Given the description of an element on the screen output the (x, y) to click on. 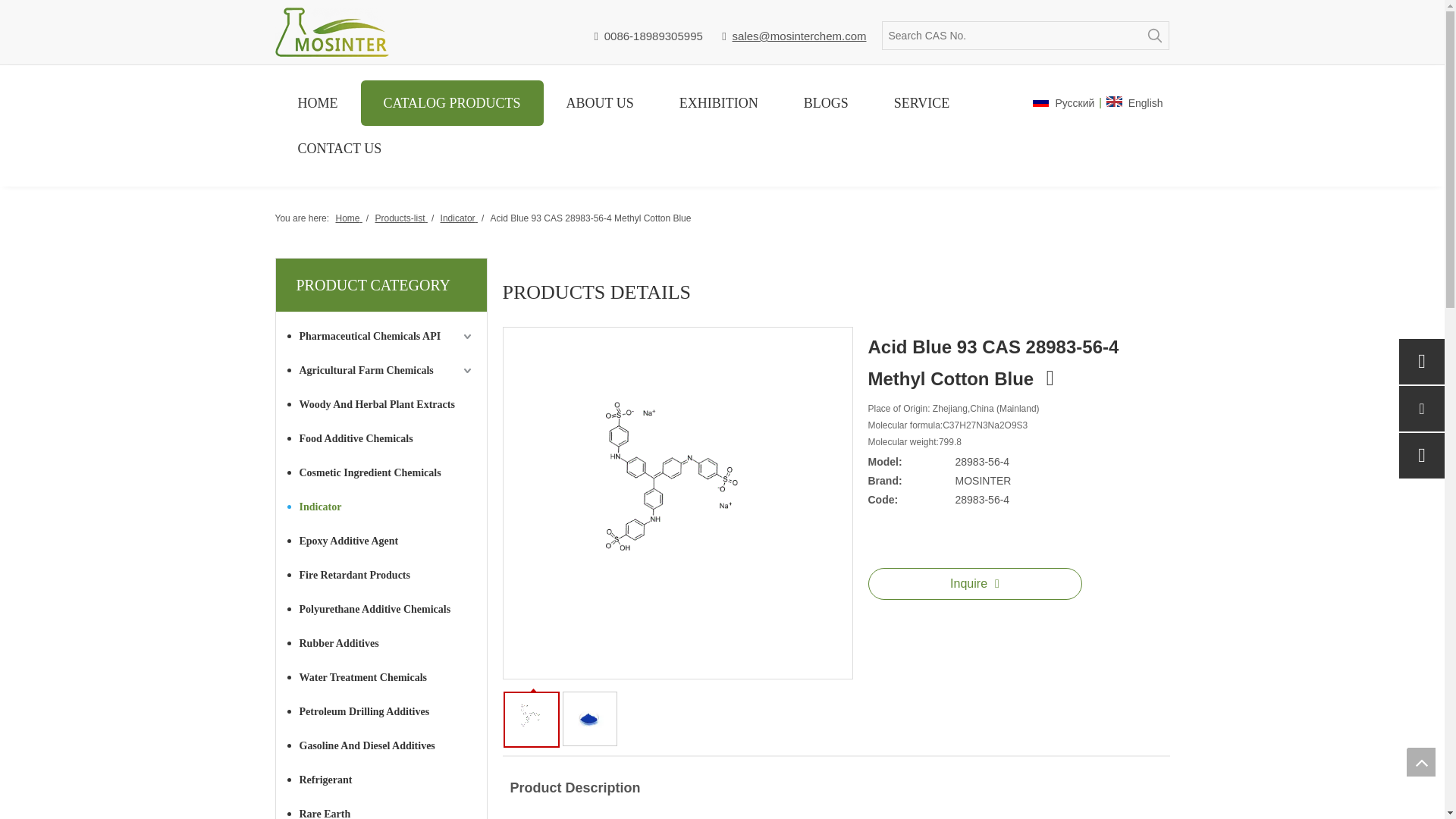
HOME (317, 103)
CATALOG PRODUCTS (452, 103)
Home (347, 217)
Pharmaceutical Chemicals API (380, 335)
SERVICE (921, 103)
Products-list (400, 217)
CONTACT US (339, 148)
BLOGS (825, 103)
English (1134, 102)
EXHIBITION (718, 103)
Indicator (459, 217)
ABOUT US (599, 103)
Pharmaceutical Chemicals API (380, 335)
Agricultural Farm Chemicals (380, 369)
